Given the description of an element on the screen output the (x, y) to click on. 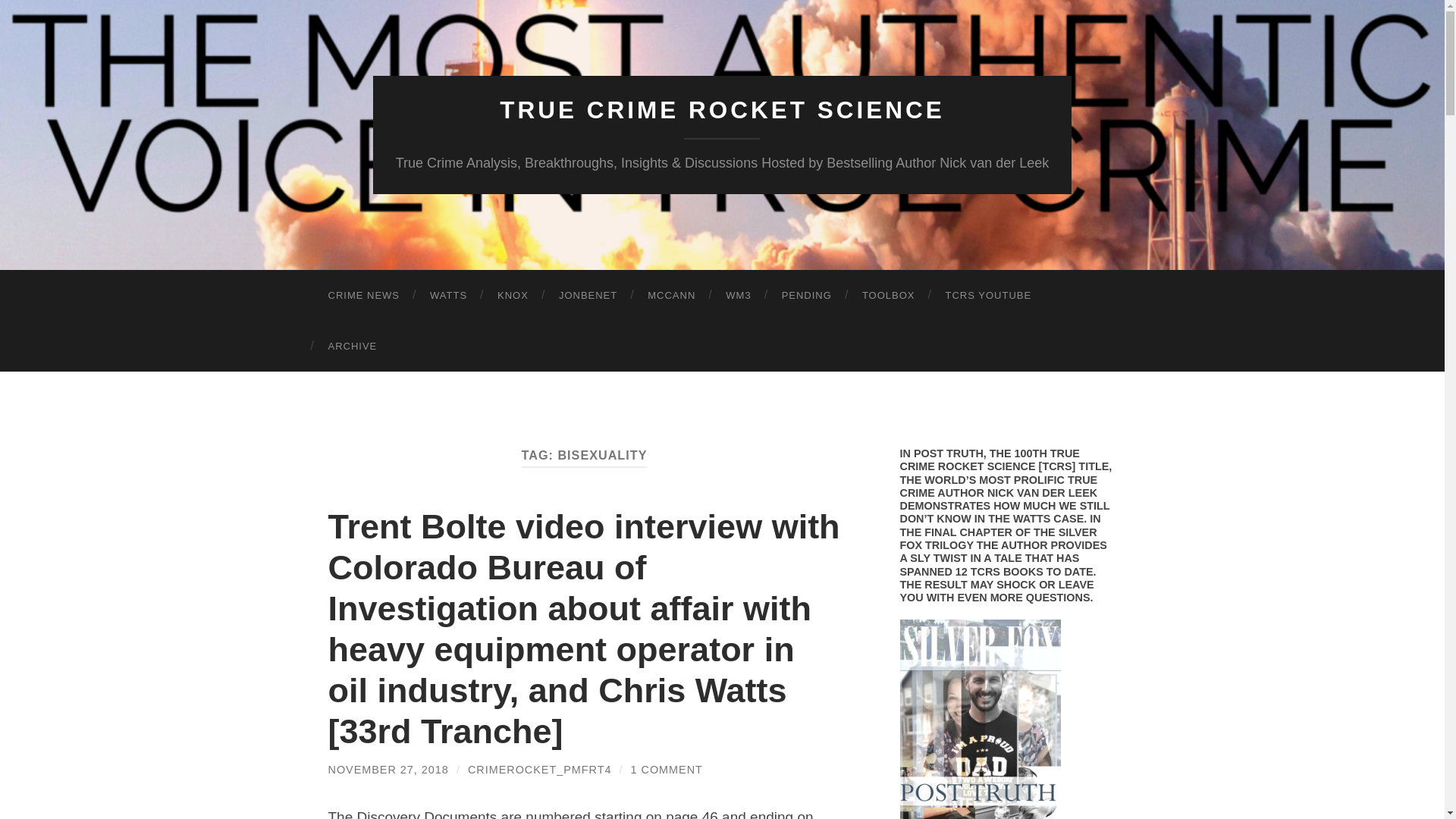
NOVEMBER 27, 2018 (387, 769)
KNOX (512, 295)
WATTS (447, 295)
CRIME NEWS (363, 295)
PENDING (807, 295)
MCCANN (670, 295)
ARCHIVE (352, 346)
TOOLBOX (888, 295)
JONBENET (587, 295)
WM3 (737, 295)
TRUE CRIME ROCKET SCIENCE (721, 109)
1 COMMENT (666, 769)
TCRS YOUTUBE (988, 295)
